Given the description of an element on the screen output the (x, y) to click on. 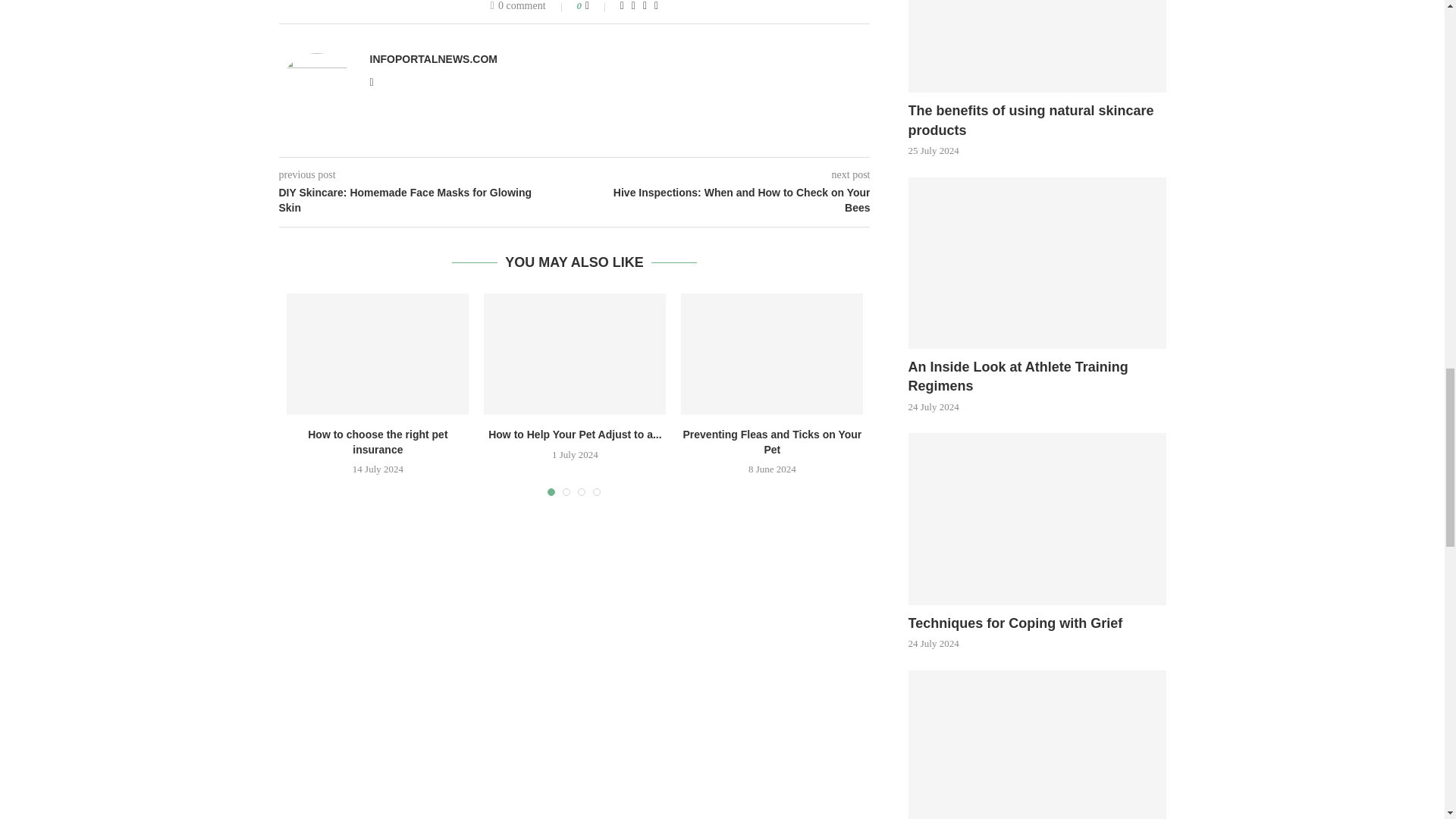
Like (597, 6)
How to Help Your Pet Adjust to a New Home (574, 353)
How to choose the right pet insurance (377, 353)
Preventing Fleas and Ticks on Your Pet (772, 353)
Author infoportalnews.com (433, 59)
